Given the description of an element on the screen output the (x, y) to click on. 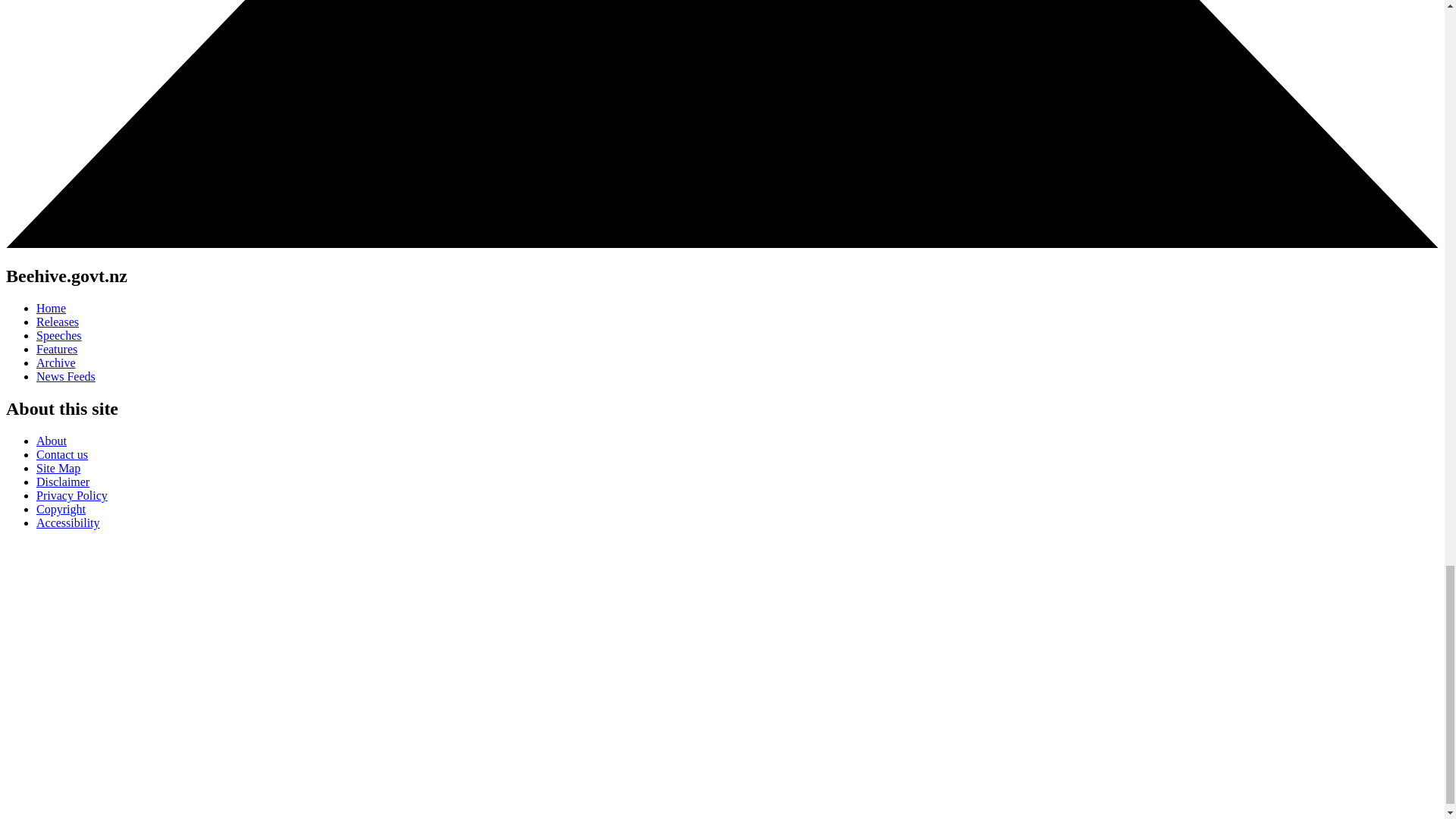
Archive (55, 362)
Accessibility (68, 522)
Speeches (58, 335)
Disclaimer (62, 481)
Privacy Policy (71, 495)
Contact us (61, 454)
Features (56, 349)
Copyright (60, 508)
Site Map (58, 468)
Home (50, 308)
